Given the description of an element on the screen output the (x, y) to click on. 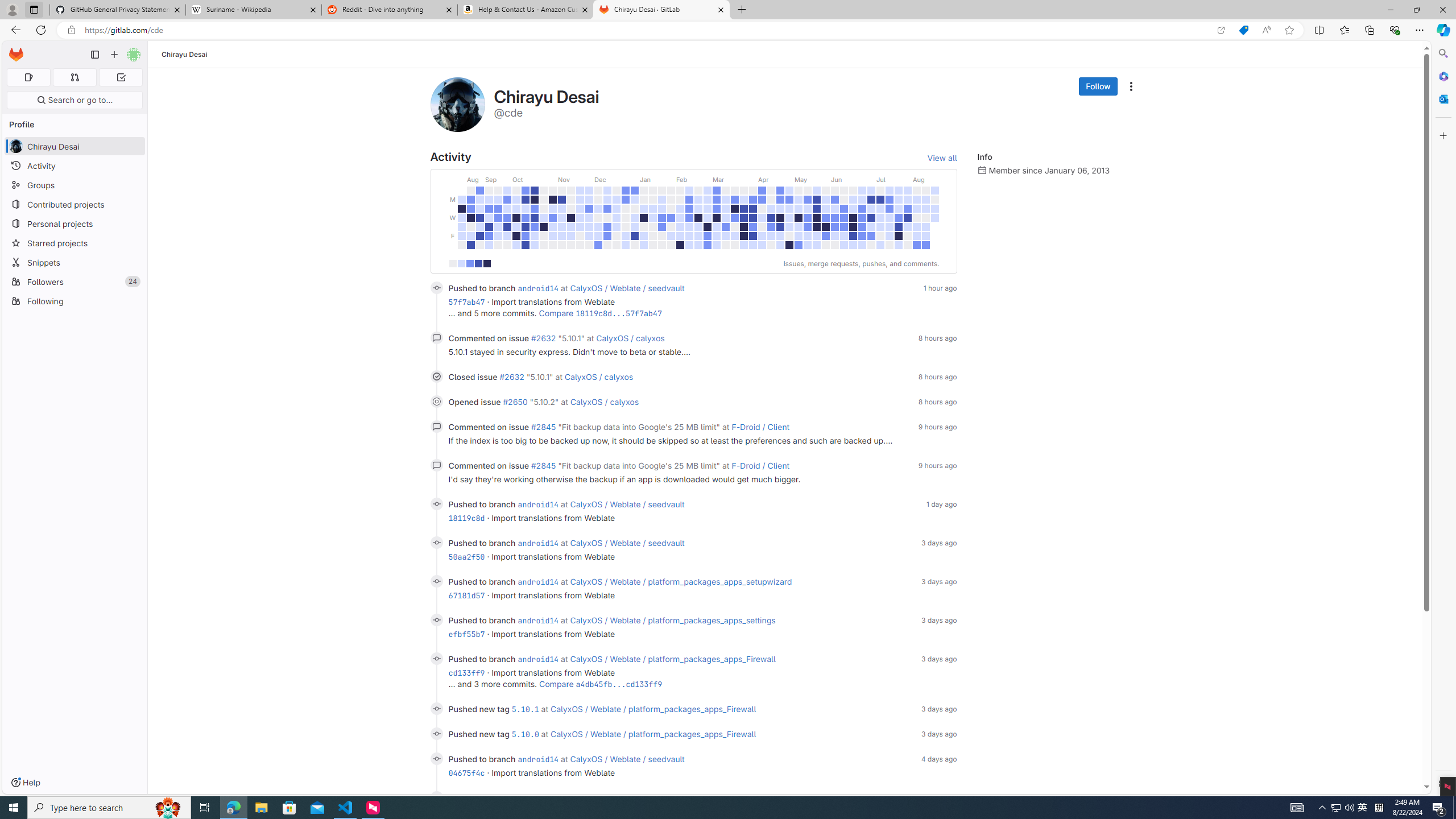
cd133ff9 (466, 672)
1-9 contributions (461, 262)
Skip to main content (13, 49)
#2632  (513, 376)
Follow (1098, 85)
